Given the description of an element on the screen output the (x, y) to click on. 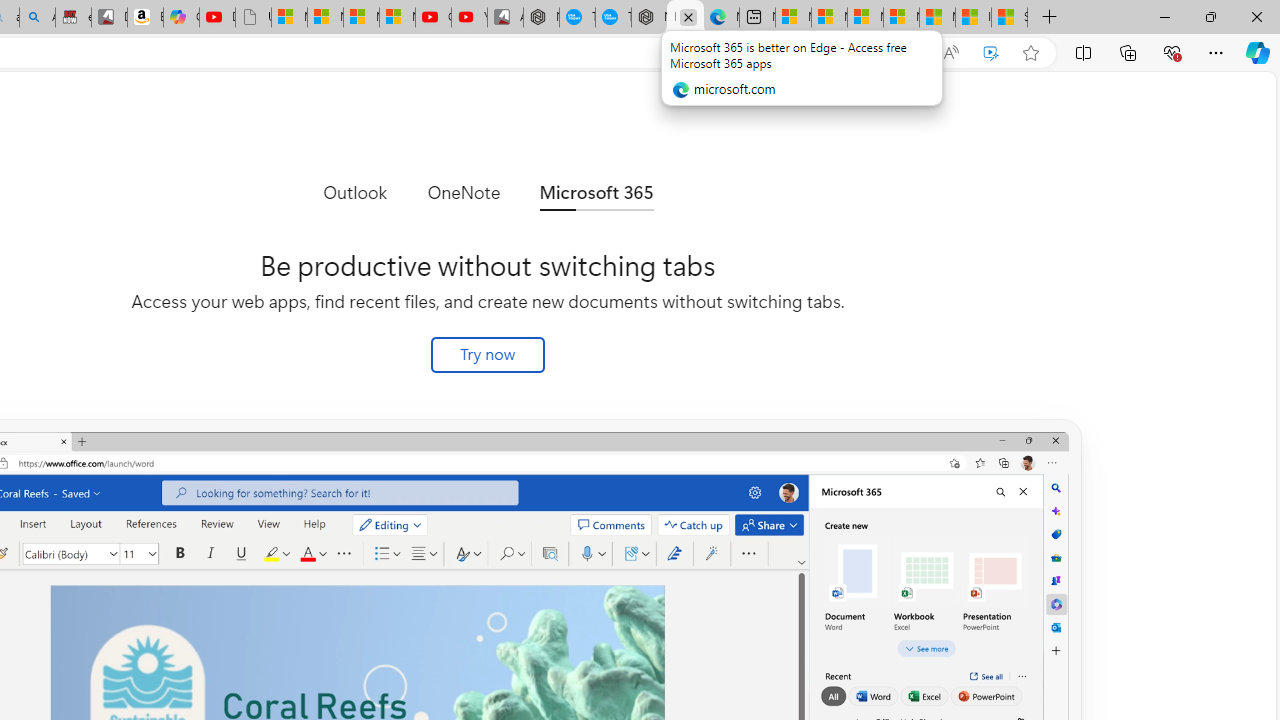
Split screen (1083, 52)
Day 1: Arriving in Yemen (surreal to be here) - YouTube (217, 17)
I Gained 20 Pounds of Muscle in 30 Days! | Watch (973, 17)
Copilot (Ctrl+Shift+.) (1258, 52)
